Given the description of an element on the screen output the (x, y) to click on. 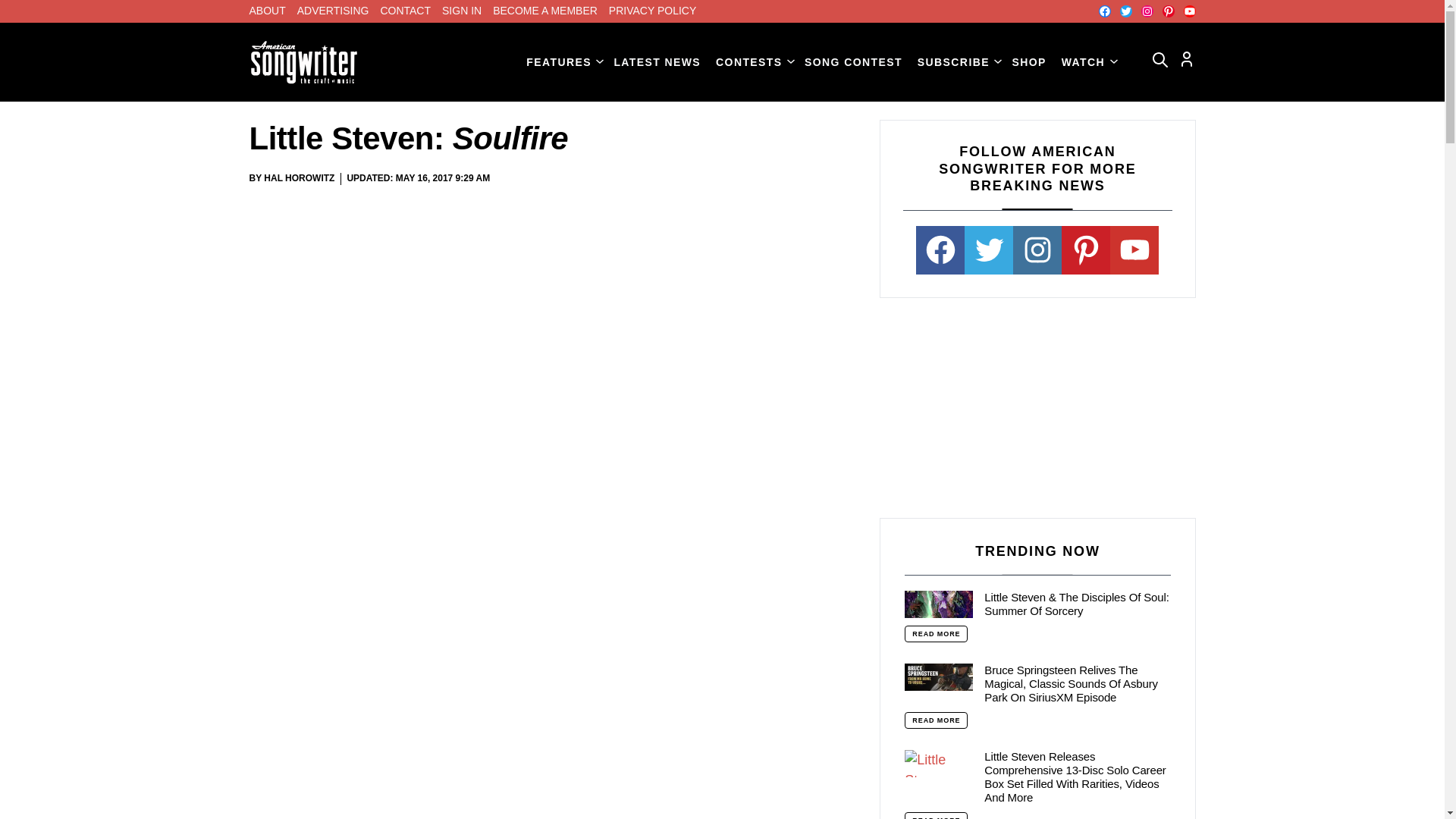
CONTACT (405, 10)
Twitter (1125, 10)
PRIVACY POLICY (651, 10)
ADVERTISING (333, 10)
BECOME A MEMBER (544, 10)
YouTube (1188, 10)
May 16, 2017 9:29 am (442, 178)
Pinterest (1167, 10)
Instagram (1146, 10)
SIGN IN (461, 10)
